Given the description of an element on the screen output the (x, y) to click on. 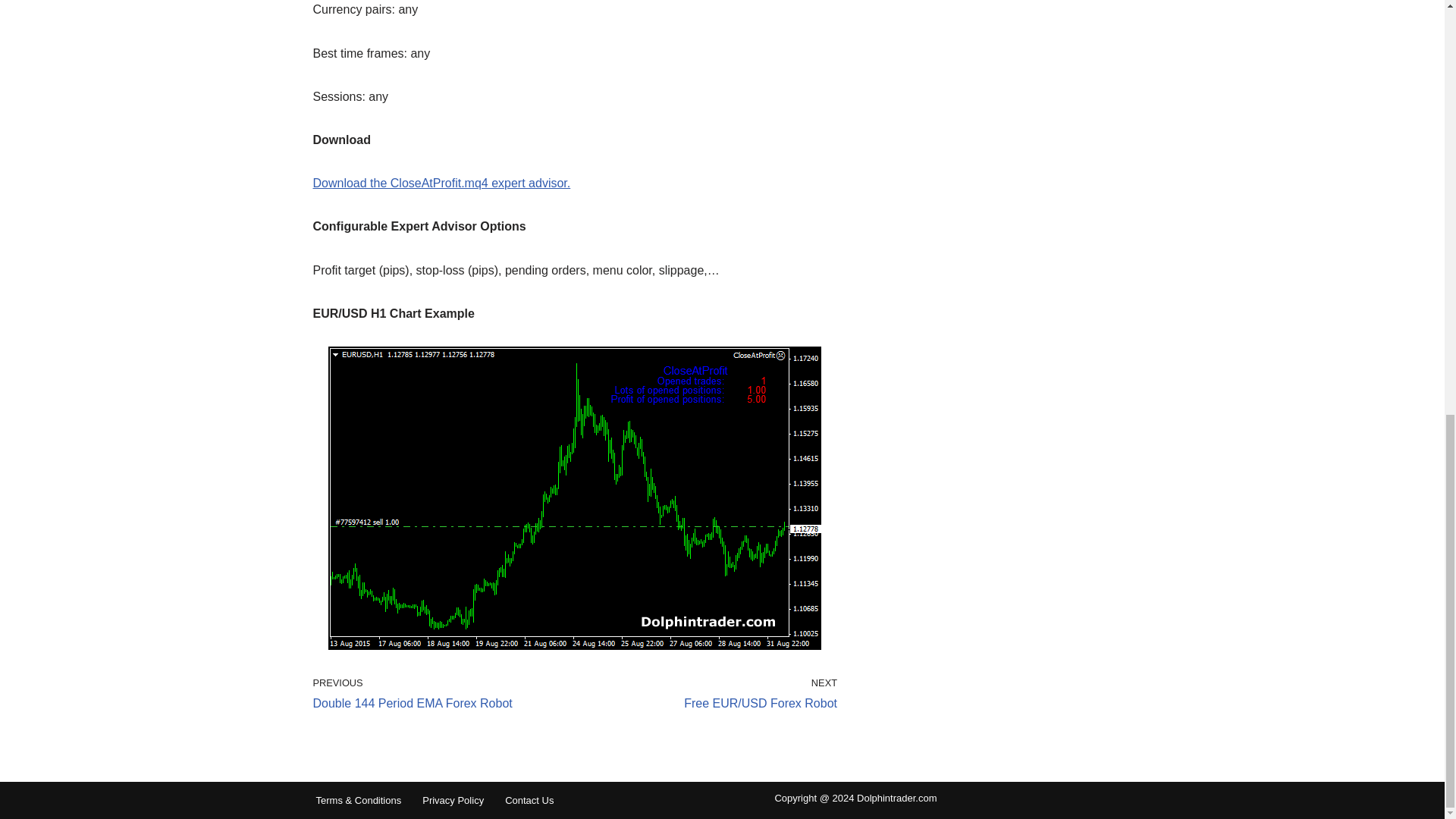
Download Now (441, 182)
